Given the description of an element on the screen output the (x, y) to click on. 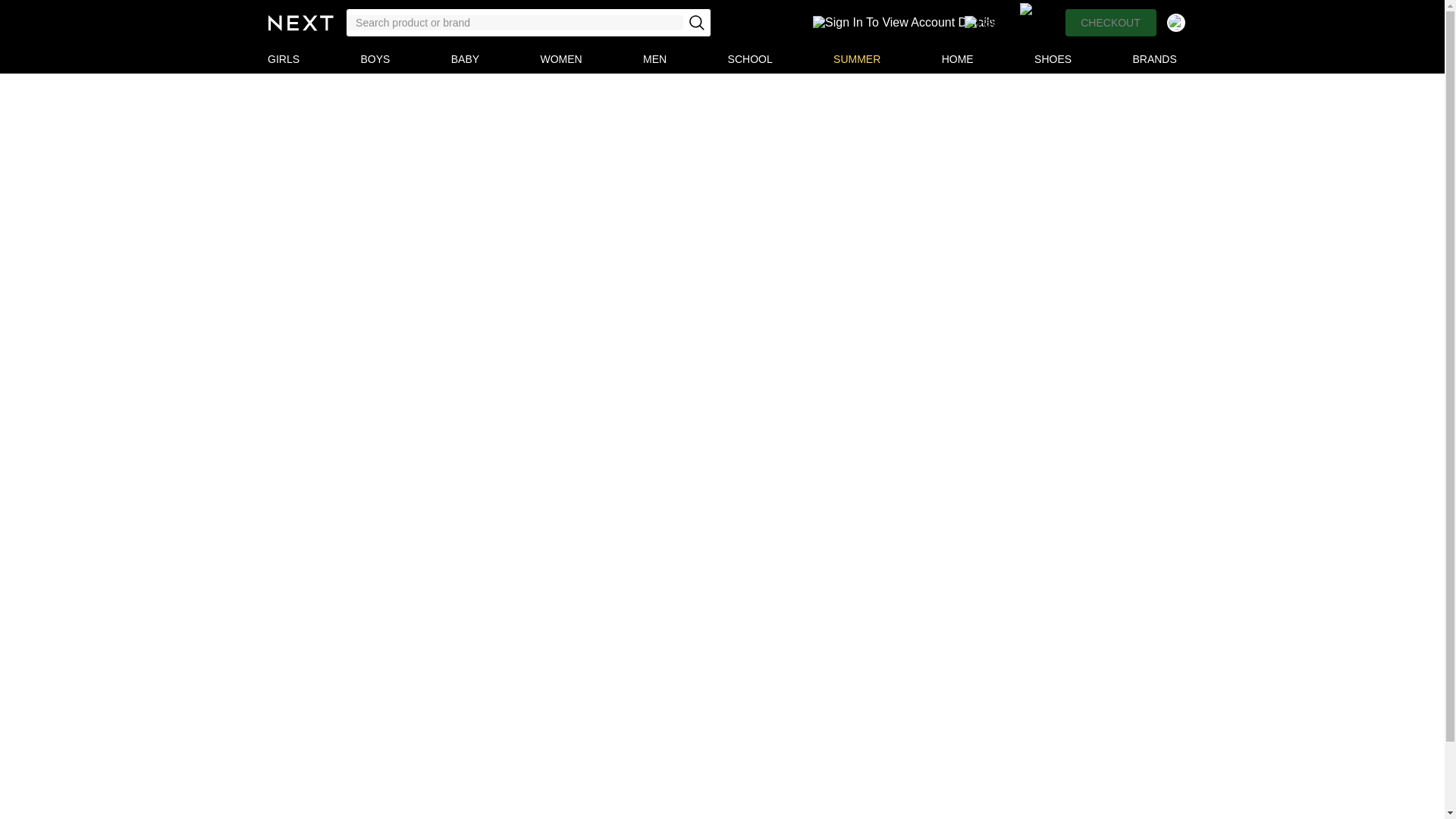
Favourites (1010, 22)
CHECKOUT (1110, 22)
SHOES (1052, 59)
SCHOOL (749, 59)
MEN (654, 59)
BABY (464, 59)
GIRLS (283, 59)
SHOES (1052, 59)
WOMEN (561, 59)
HOME (957, 59)
BOYS (375, 59)
BRANDS (1155, 59)
SUMMER (857, 59)
MEN (654, 59)
SCHOOL (749, 59)
